Given the description of an element on the screen output the (x, y) to click on. 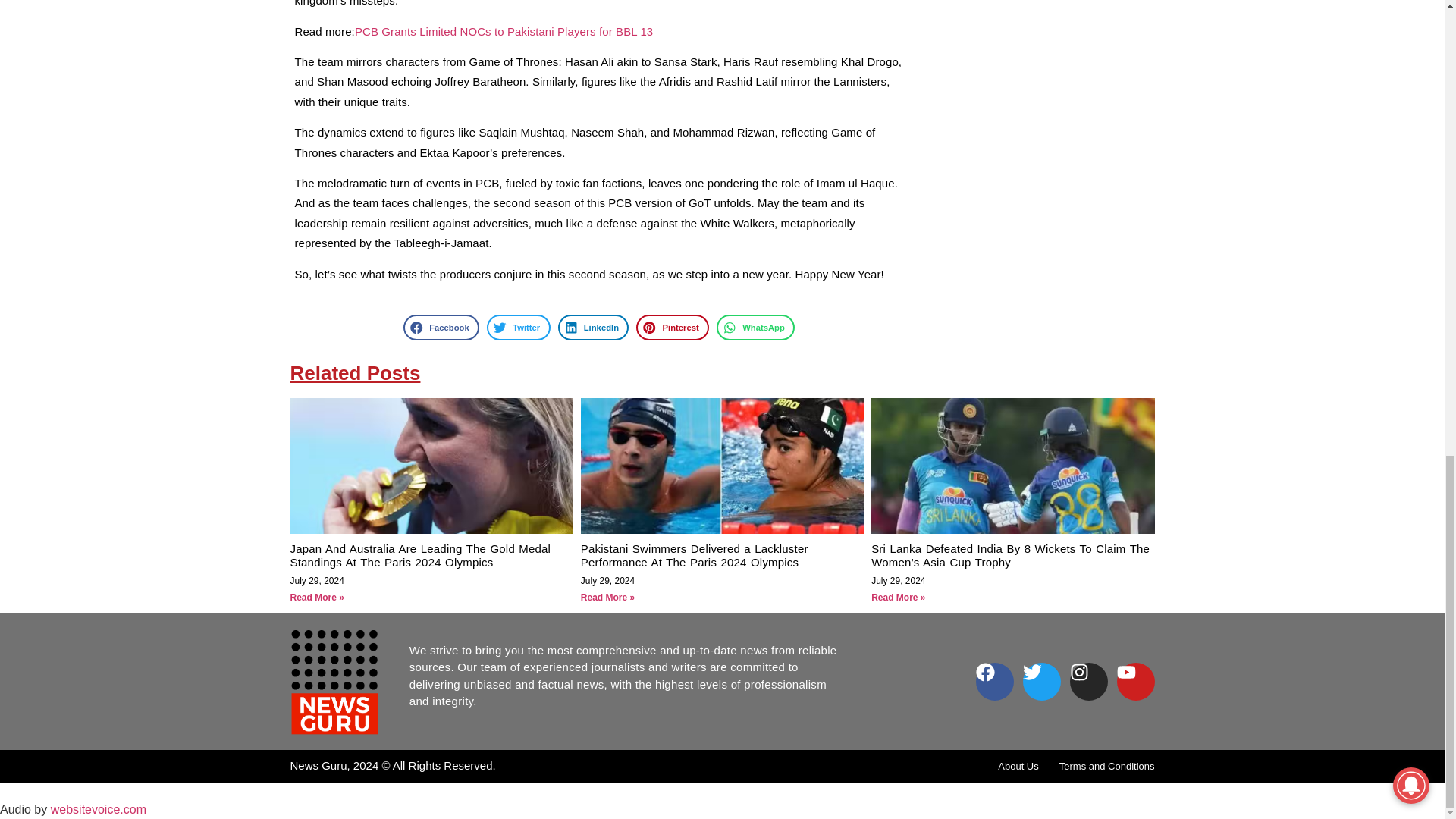
WebsiteVoice (98, 809)
